Given the description of an element on the screen output the (x, y) to click on. 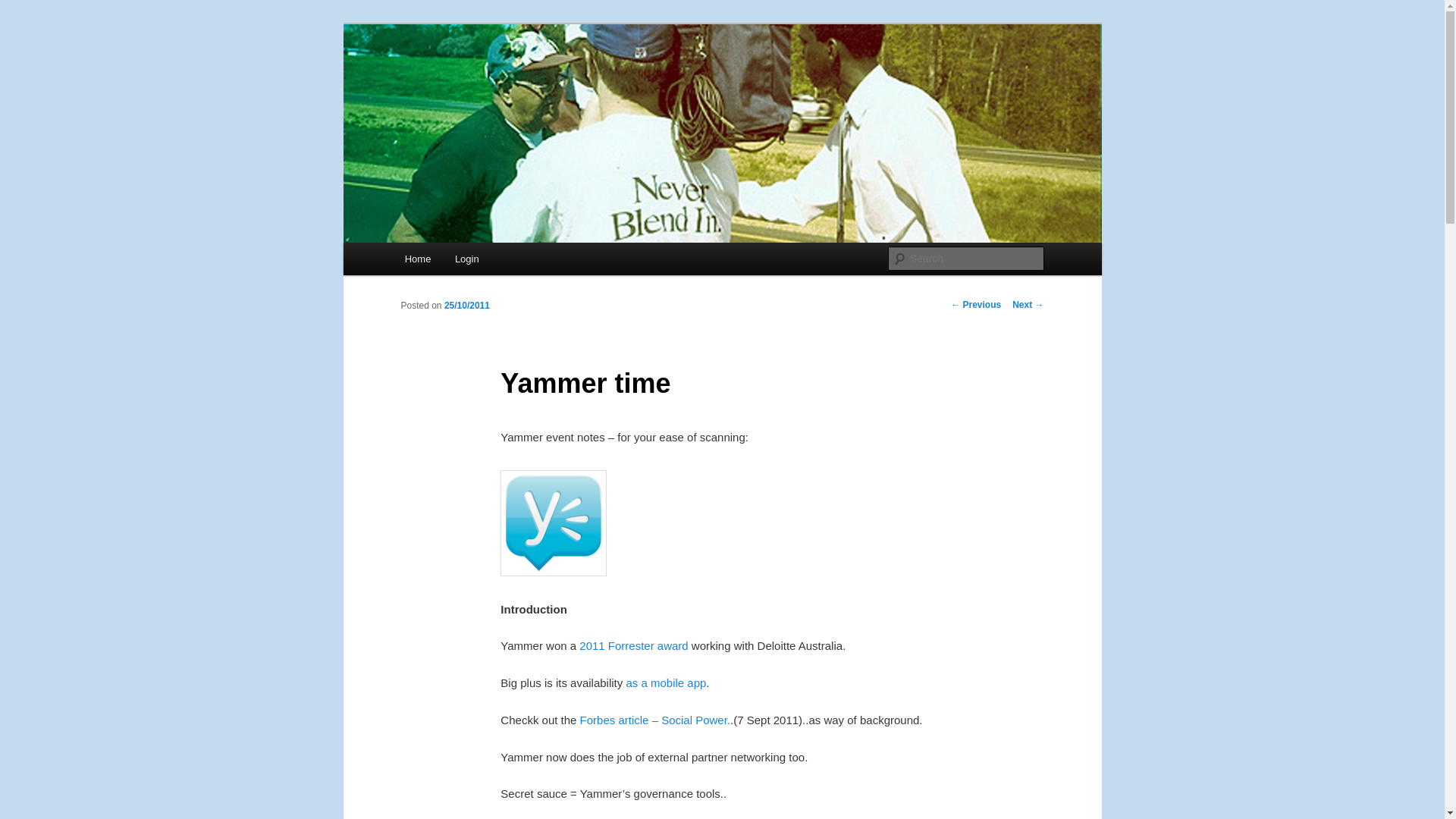
Login (466, 258)
Home (417, 258)
Search (24, 8)
as a mobile app (666, 682)
2011 Forrester award (633, 645)
